Given the description of an element on the screen output the (x, y) to click on. 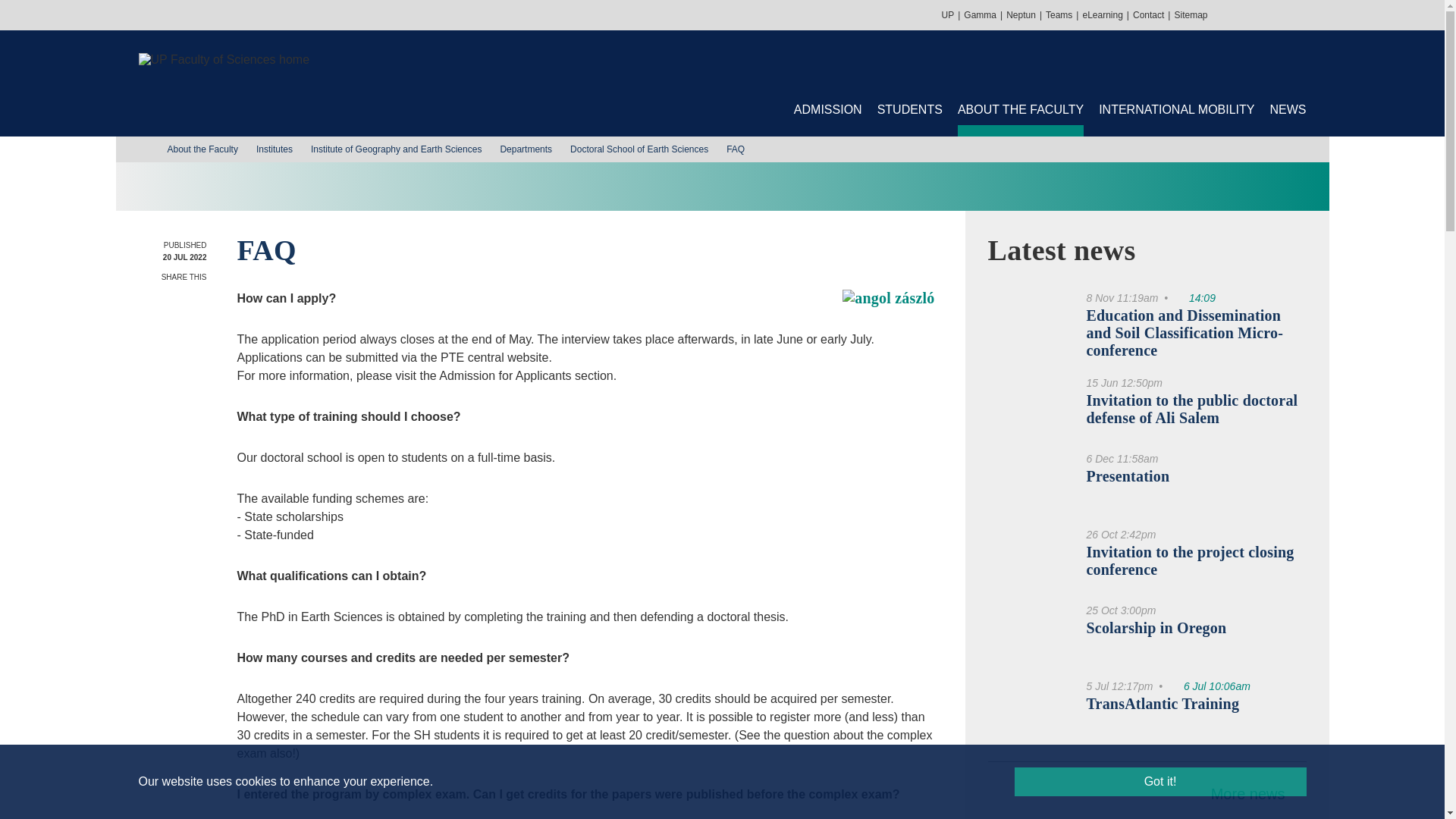
Sitemap (1190, 14)
Neptun (1020, 14)
Updated (1209, 686)
ADMISSION (827, 109)
Contact (1147, 14)
Updated (1194, 297)
Teams (1058, 14)
Hungarian (1313, 14)
eLearning (1101, 14)
UP (948, 14)
